Given the description of an element on the screen output the (x, y) to click on. 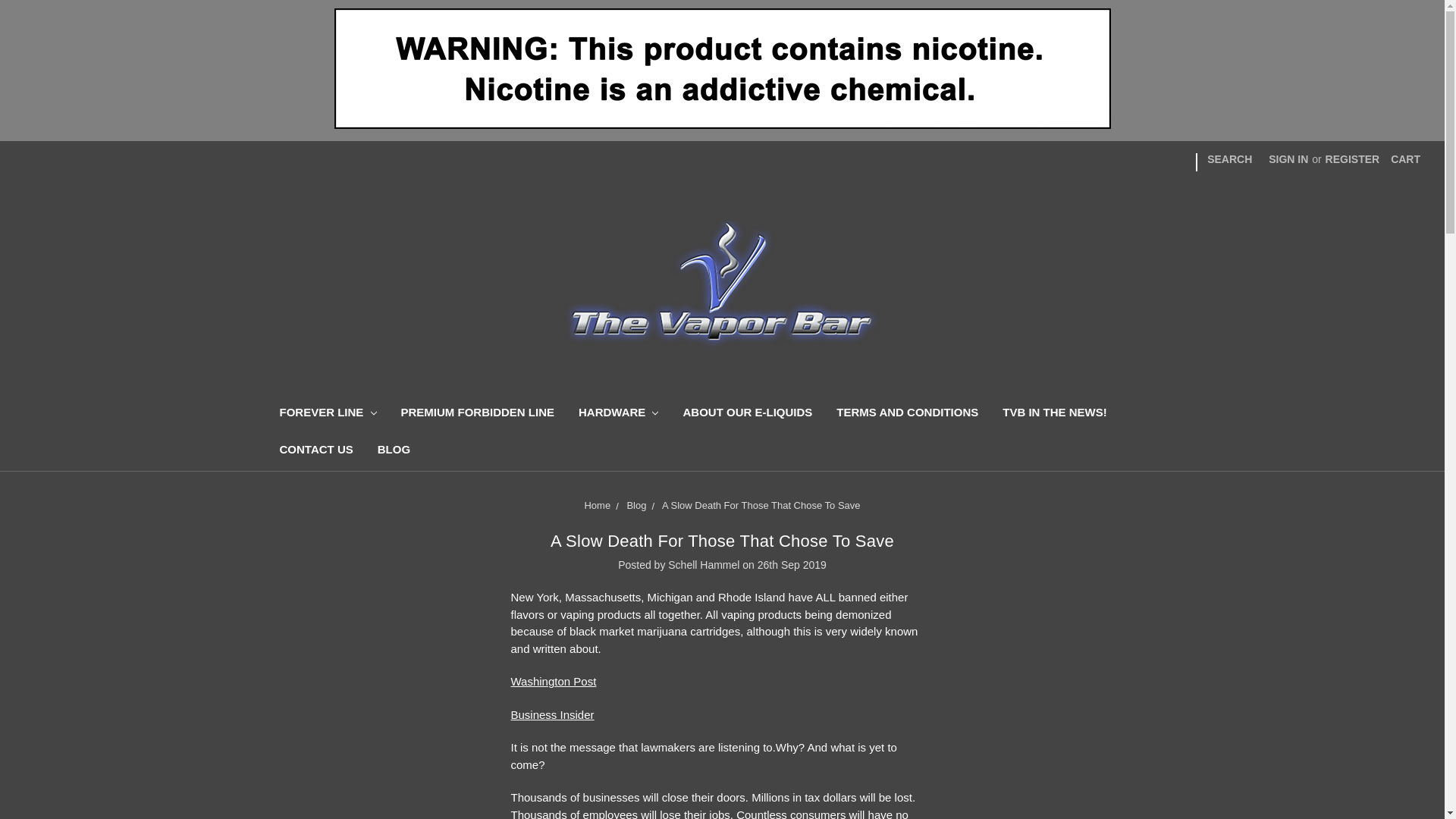
SIGN IN (1288, 159)
CONTACT US (315, 451)
HARDWARE (617, 414)
SEARCH (1229, 159)
BLOG (393, 451)
TVB IN THE NEWS! (1054, 414)
A Slow Death For Those That Chose To Save (721, 540)
Home (596, 505)
PREMIUM FORBIDDEN LINE (477, 414)
Blog (636, 505)
TERMS AND CONDITIONS (907, 414)
CART (1404, 159)
Business Insider (552, 714)
FOREVER LINE (327, 414)
fda-nic-warning.png (721, 70)
